Given the description of an element on the screen output the (x, y) to click on. 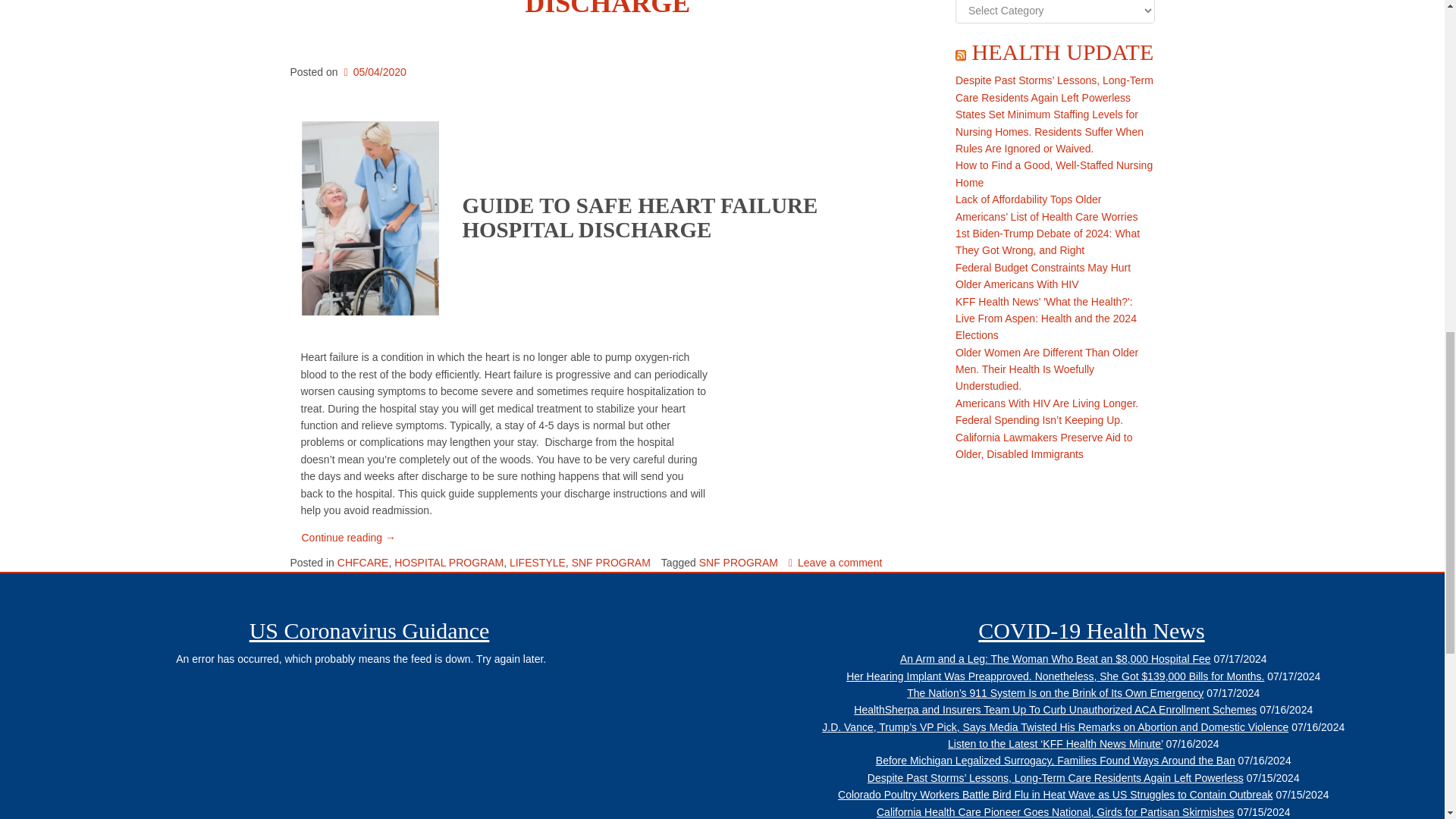
Federal Budget Constraints May Hurt Older Americans With HIV (1043, 275)
SNF PROGRAM (611, 562)
SNF PROGRAM (737, 562)
LIFESTYLE (537, 562)
GUIDE TO SAFE HEART FAILURE HOSPITAL DISCHARGE (611, 9)
CHFCARE (362, 562)
How to Find a Good, Well-Staffed Nursing Home (1054, 173)
HEALTH UPDATE (1063, 51)
Leave a comment (835, 562)
HOSPITAL PROGRAM (448, 562)
